Given the description of an element on the screen output the (x, y) to click on. 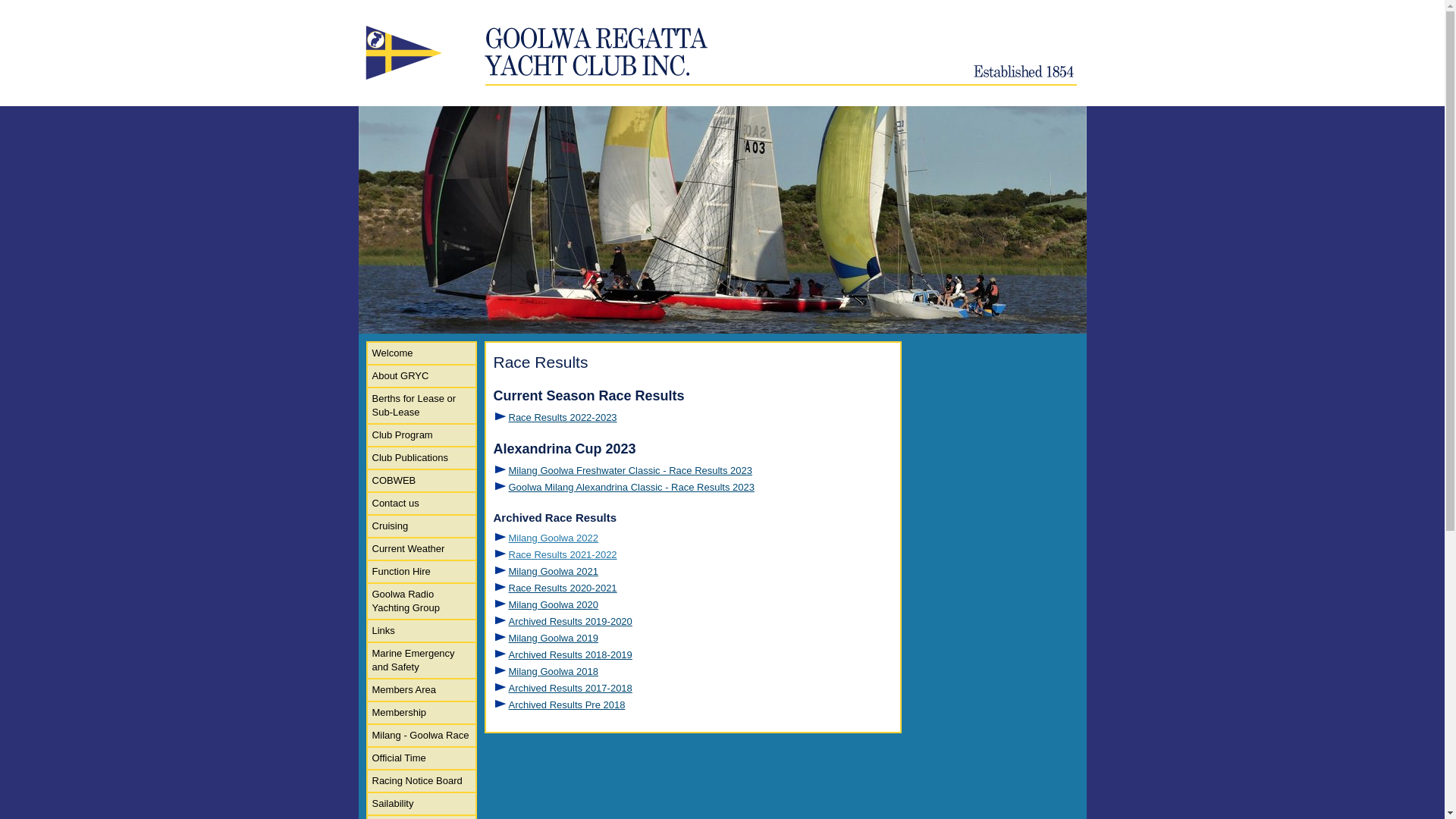
Contact us Element type: text (420, 503)
Milang Goolwa 2021 Element type: text (553, 571)
Membership Element type: text (420, 712)
Racing Notice Board Element type: text (420, 780)
Archived Results 2017-2018 Element type: text (569, 687)
COBWEB Element type: text (420, 480)
Club Program Element type: text (420, 435)
Milang Goolwa 2019 Element type: text (553, 637)
Function Hire Element type: text (420, 571)
Race Results 2021-2022 Element type: text (562, 554)
Milang Goolwa 2020 Element type: text (553, 604)
Goolwa Radio Yachting Group Element type: text (420, 601)
Race Results 2022-2023 Element type: text (562, 417)
Milang - Goolwa Race Element type: text (420, 735)
Milang Goolwa Freshwater Classic - Race Results 2023 Element type: text (630, 470)
Berths for Lease or Sub-Lease Element type: text (420, 405)
Archived Results 2018-2019 Element type: text (569, 654)
Goolwa Milang Alexandrina Classic - Race Results 2023 Element type: text (630, 486)
Race Results 2020-2021 Element type: text (562, 587)
Club Publications Element type: text (420, 457)
Milang Goolwa 2018 Element type: text (553, 671)
GOOLWA REGATTA YACHT CLUB INC. Element type: text (721, 54)
Sailability Element type: text (420, 803)
Official Time Element type: text (420, 758)
Archived Results 2019-2020 Element type: text (569, 621)
Links Element type: text (420, 630)
Welcome Element type: text (420, 353)
Members Area Element type: text (420, 689)
Archived Results Pre 2018 Element type: text (566, 704)
Marine Emergency and Safety Element type: text (420, 660)
Current Weather Element type: text (420, 548)
Cruising Element type: text (420, 526)
About GRYC Element type: text (420, 375)
Milang Goolwa 2022 Element type: text (553, 537)
